Given the description of an element on the screen output the (x, y) to click on. 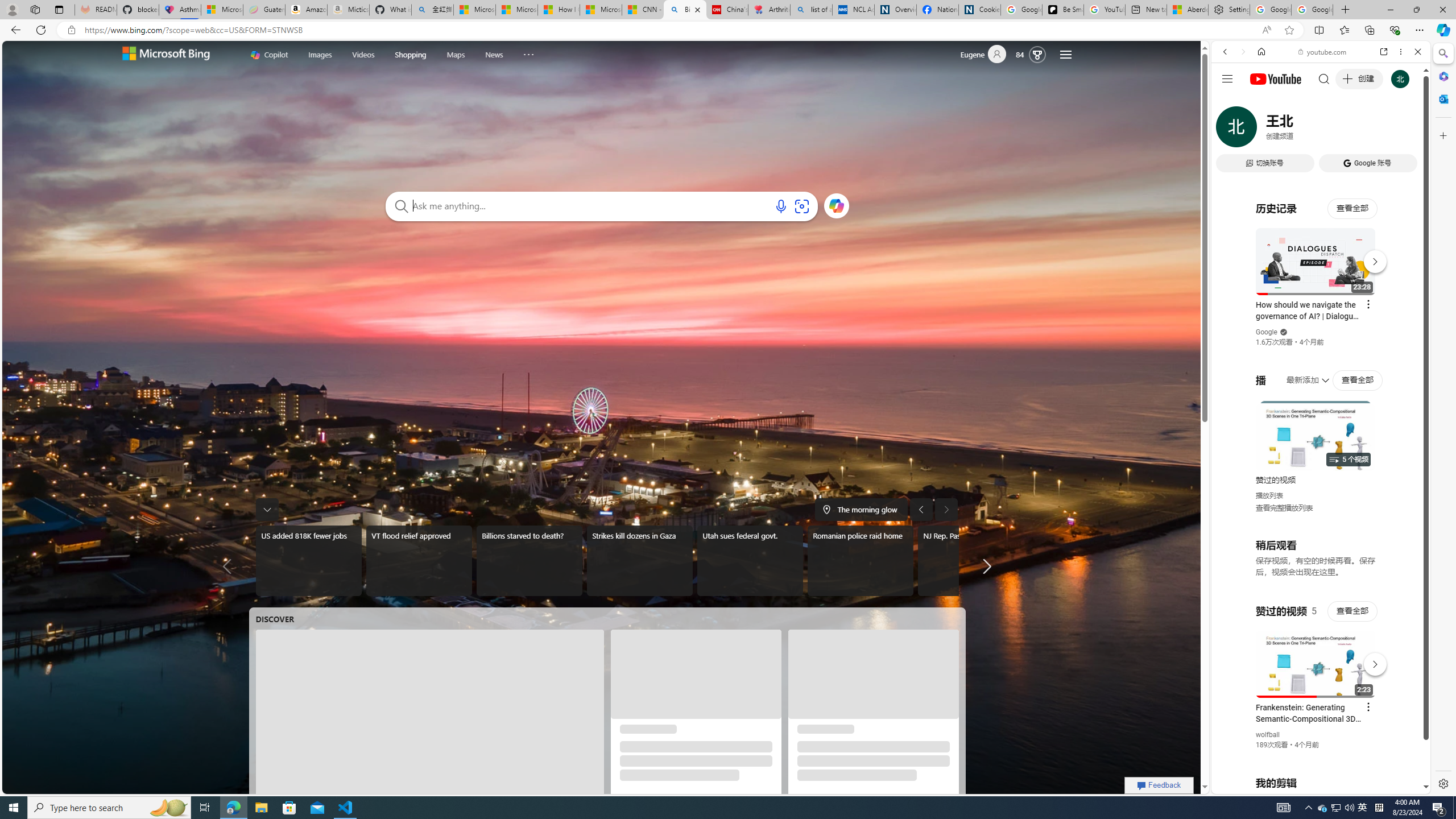
The taskbar was expanded. Press to collapse taskbar (266, 508)
Romanian police raid home (859, 560)
